Given the description of an element on the screen output the (x, y) to click on. 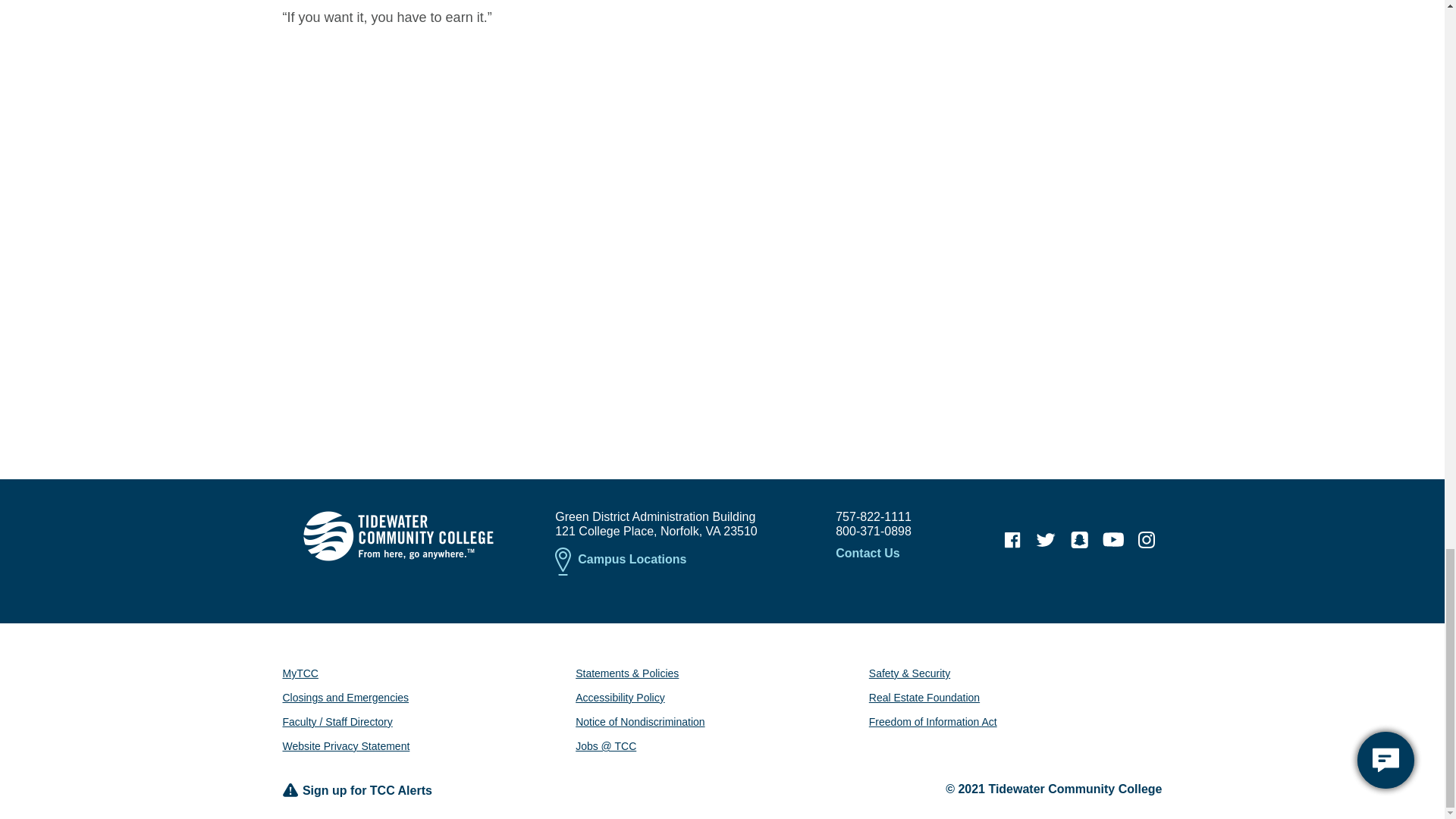
TCC on Twitter (1045, 539)
TCC on YouTube (1112, 539)
TCC on Instagram (1146, 539)
Tidewater Community College (398, 535)
TCC on Facebook (1012, 539)
TCC on Snapchat (1079, 539)
